Given the description of an element on the screen output the (x, y) to click on. 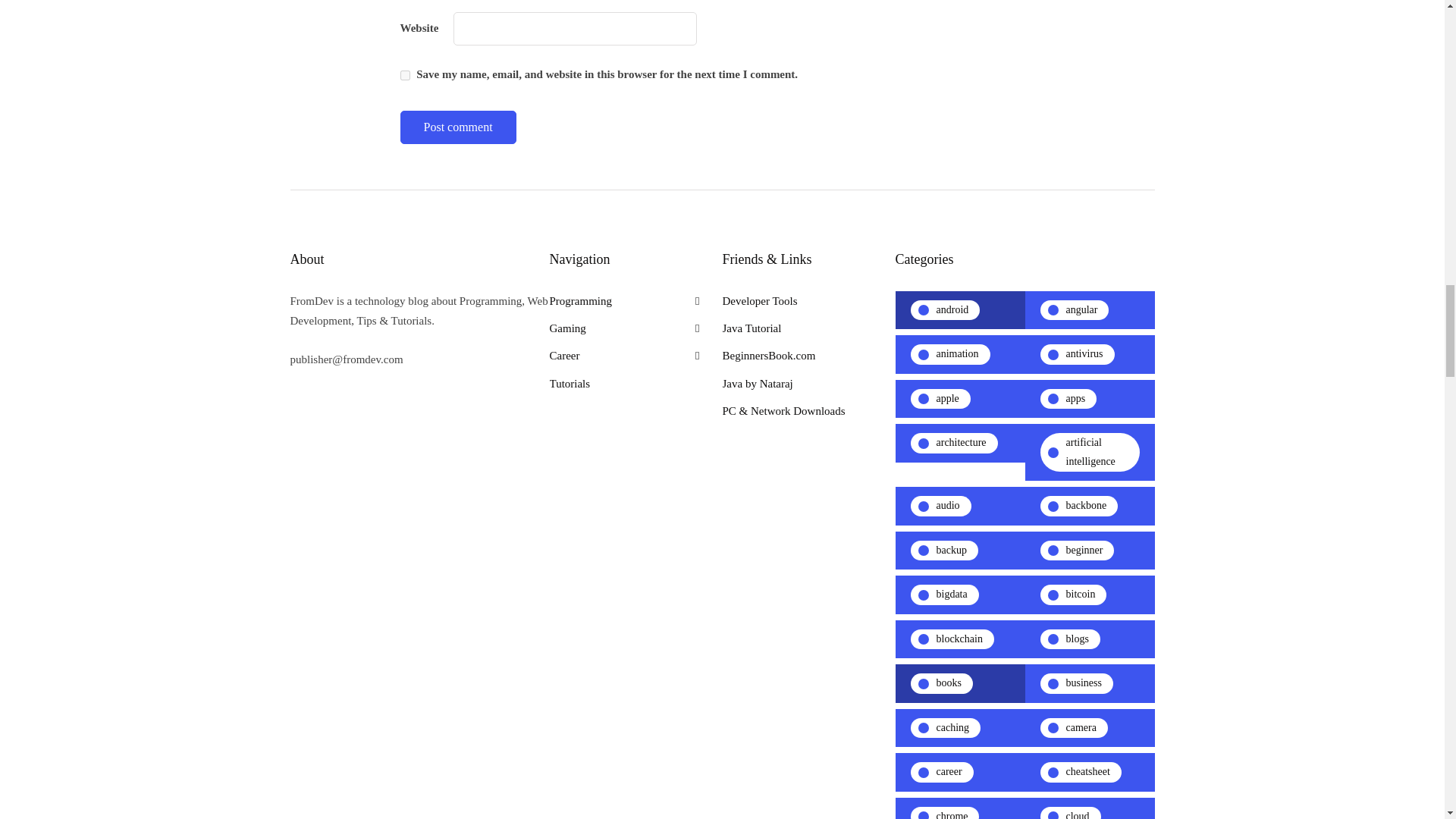
Post comment (458, 127)
yes (405, 75)
